Given the description of an element on the screen output the (x, y) to click on. 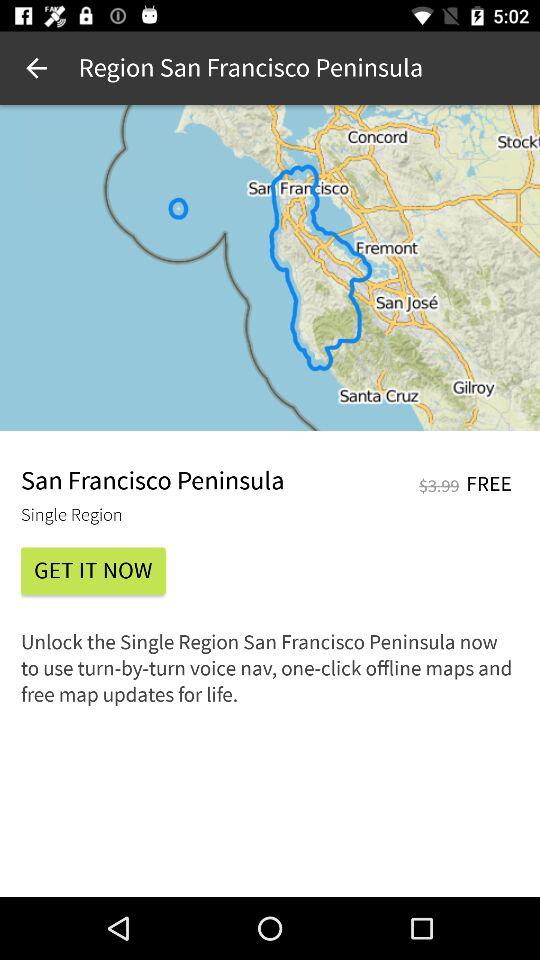
select icon below get it now (270, 674)
